Given the description of an element on the screen output the (x, y) to click on. 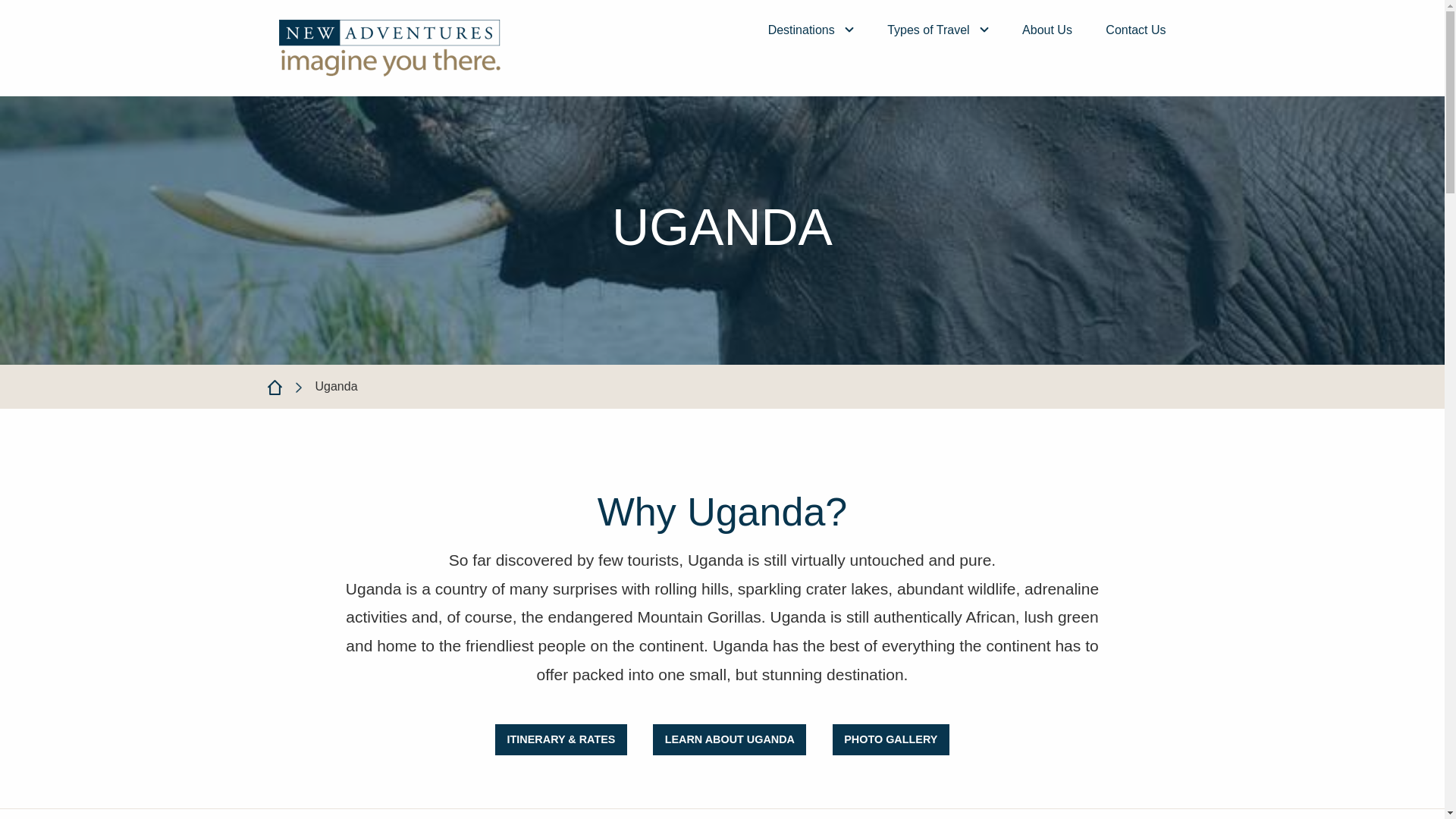
PHOTO GALLERY (890, 739)
LEARN ABOUT UGANDA (729, 739)
About Us (1046, 29)
LEARN ABOUT UGANDA (729, 739)
Destinations (810, 29)
PHOTO GALLERY (890, 739)
Types of Travel (937, 29)
Contact Us (1135, 29)
